Given the description of an element on the screen output the (x, y) to click on. 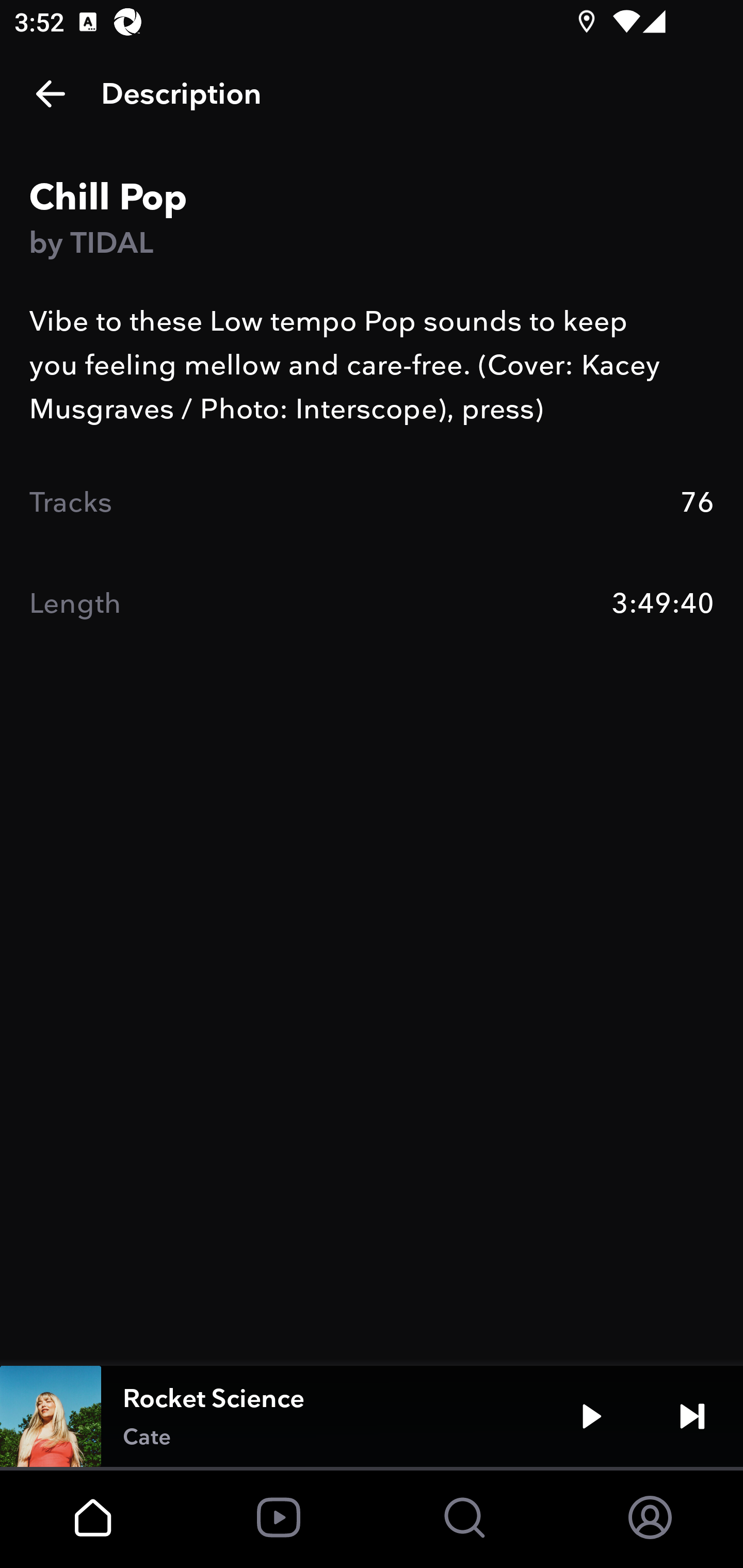
Back (50, 93)
Rocket Science Cate Play (371, 1416)
Play (590, 1416)
